Given the description of an element on the screen output the (x, y) to click on. 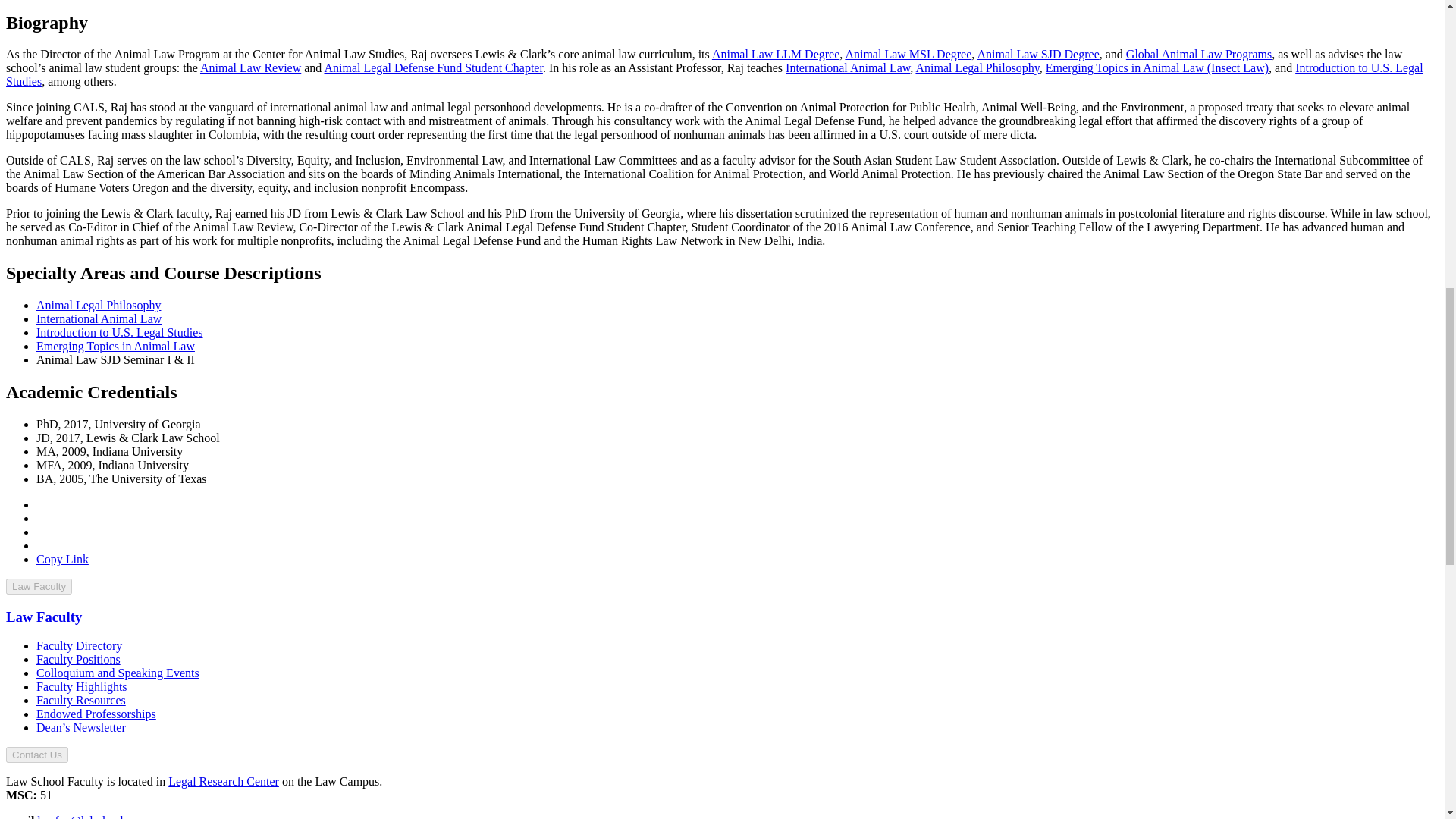
Animal Legal Philosophy (98, 305)
International Animal Law (848, 67)
Introduction to U.S. Legal Studies (119, 332)
Emerging Topics in Animal Law (115, 345)
Animal Legal Philosophy (977, 67)
Animal Law MSL Degree (907, 53)
Introduction to U.S. Legal Studies (714, 74)
Animal Law SJD Degree (1037, 53)
Animal Legal Defense Fund Student Chapter (432, 67)
International Animal Law (98, 318)
Global Animal Law Programs (1198, 53)
Animal Law LLM Degree (775, 53)
Animal Law Review (250, 67)
